Given the description of an element on the screen output the (x, y) to click on. 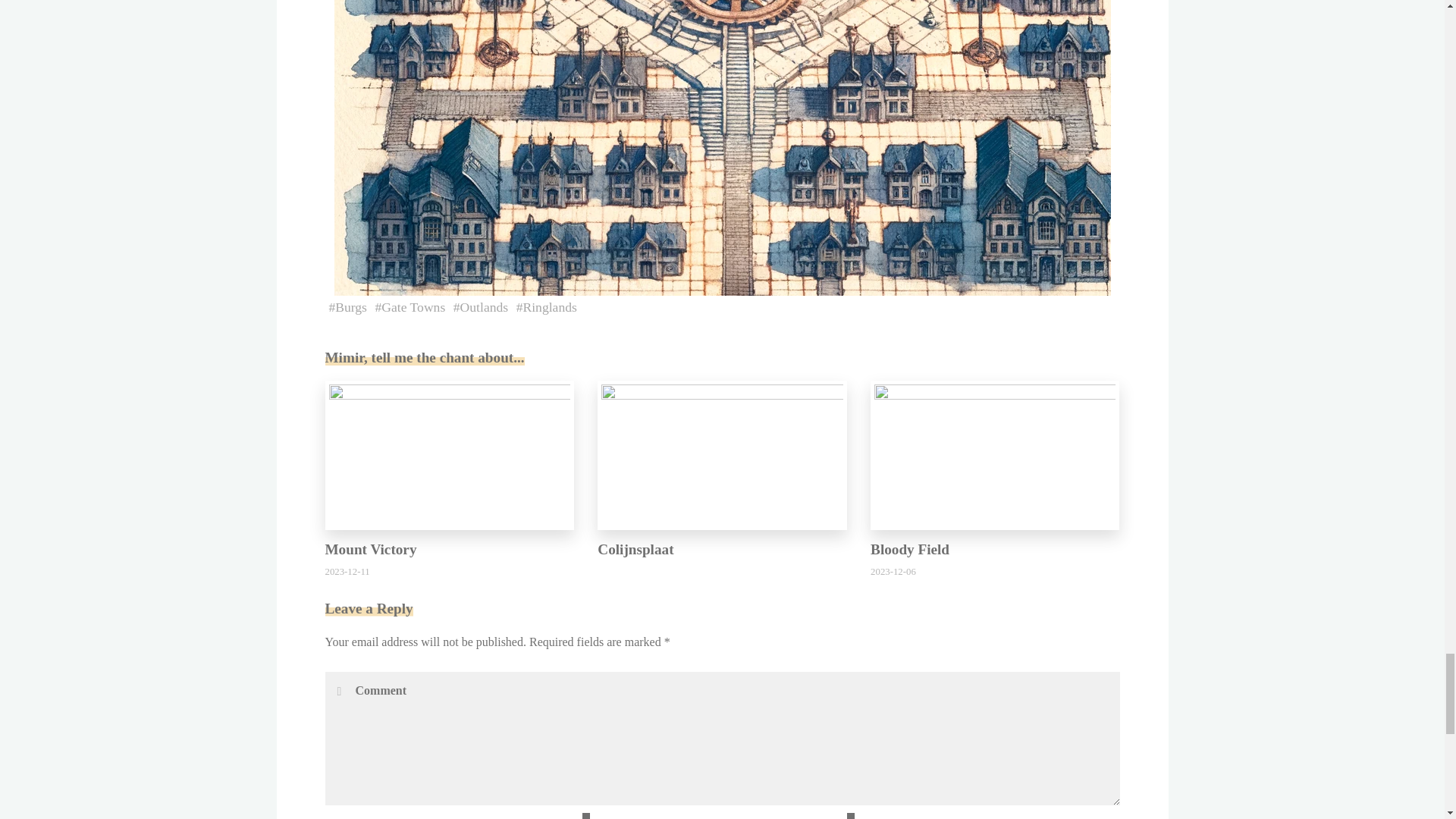
Bloody Field (995, 453)
Mount Victory (370, 549)
Bloody Field (909, 549)
Colijnsplaat (722, 453)
Colijnsplaat (634, 549)
Mount Victory (449, 453)
